Given the description of an element on the screen output the (x, y) to click on. 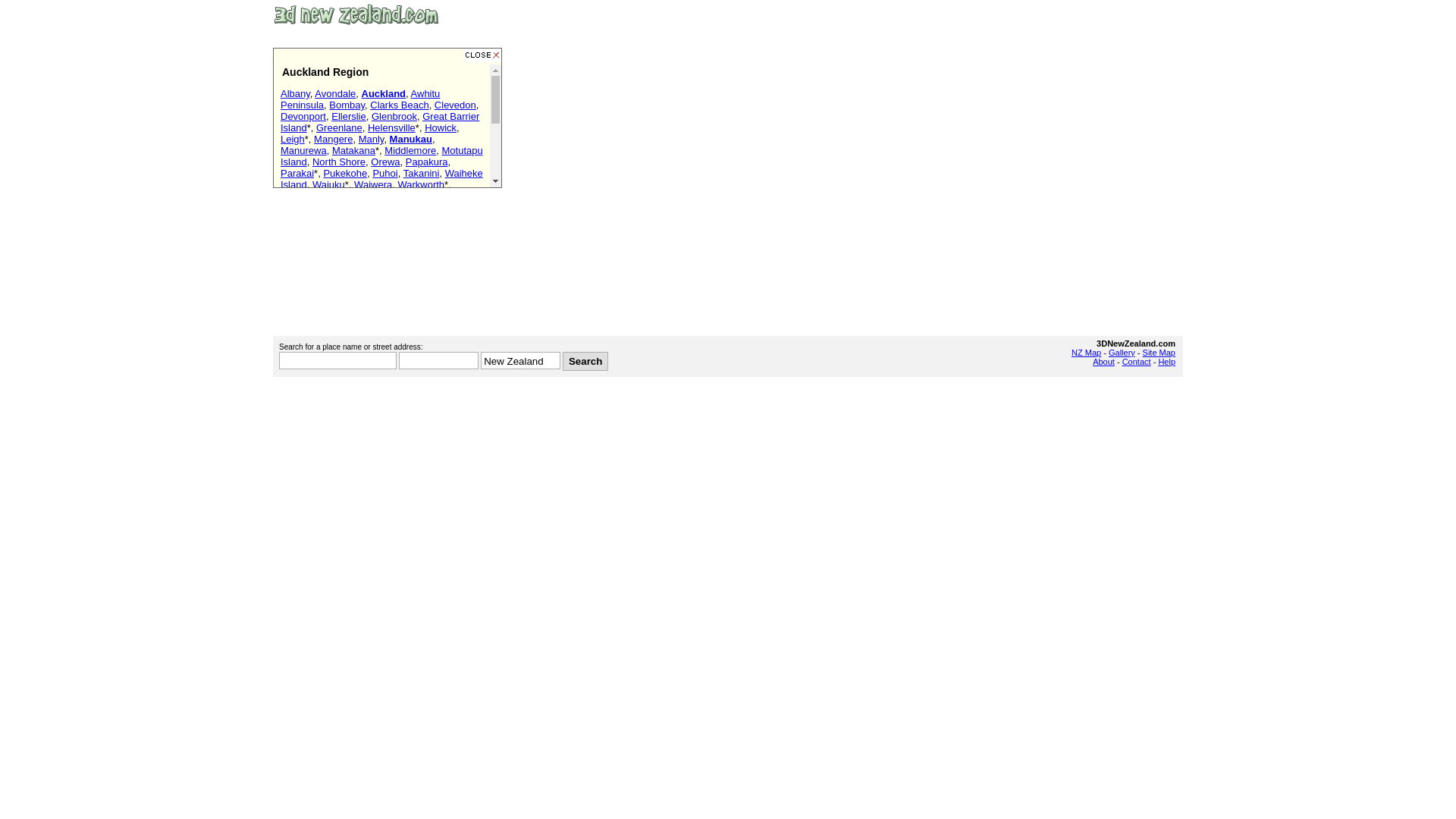
Auckland Element type: text (383, 93)
Leigh Element type: text (292, 138)
Orewa Element type: text (384, 161)
Waiwera Element type: text (373, 184)
Mt Eden Element type: text (375, 224)
Wellsford Element type: text (300, 195)
Waiuku Element type: text (328, 184)
Albany Element type: text (295, 93)
Howick Element type: text (440, 127)
Pukekohe Element type: text (345, 172)
Parakai Element type: text (296, 172)
Contact Element type: text (1136, 361)
Devonport Element type: text (303, 116)
Waiheke Island Element type: text (381, 178)
Ellerslie Element type: text (348, 116)
Greenlane Element type: text (339, 127)
Motutapu Island Element type: text (381, 155)
Manurewa Element type: text (303, 150)
Advertisement Element type: hover (1005, 14)
Rainbow's End Element type: text (341, 229)
Sky Tower Element type: text (432, 218)
Clarks Beach Element type: text (399, 104)
Avondale Element type: text (334, 93)
Great Barrier Island Element type: text (379, 121)
Papakura Element type: text (426, 161)
Mangere Element type: text (332, 138)
Clevedon Element type: text (455, 104)
Harbour Bridge Element type: text (349, 252)
Manukau Element type: text (410, 138)
Western Springs Element type: text (415, 229)
Close this window Element type: hover (482, 55)
About Element type: text (1103, 361)
Glenbrook Element type: text (394, 116)
Zoo Element type: text (466, 229)
Matakana Element type: text (353, 150)
Ellerslie Racecourse Element type: text (360, 218)
Airport Element type: text (294, 218)
NZ Map Element type: text (1086, 352)
Takanini Element type: text (421, 172)
Marina Element type: text (295, 252)
Search Element type: text (585, 360)
Gallery Element type: text (1121, 352)
Middlemore Element type: text (410, 150)
Awhitu Peninsula Element type: text (359, 98)
Bombay Element type: text (346, 104)
Helensville Element type: text (391, 127)
Site Map Element type: text (1158, 352)
Help Element type: text (1166, 361)
North Shore Element type: text (338, 161)
Manly Element type: text (371, 138)
Puhoi Element type: text (384, 172)
Warkworth Element type: text (420, 184)
